Given the description of an element on the screen output the (x, y) to click on. 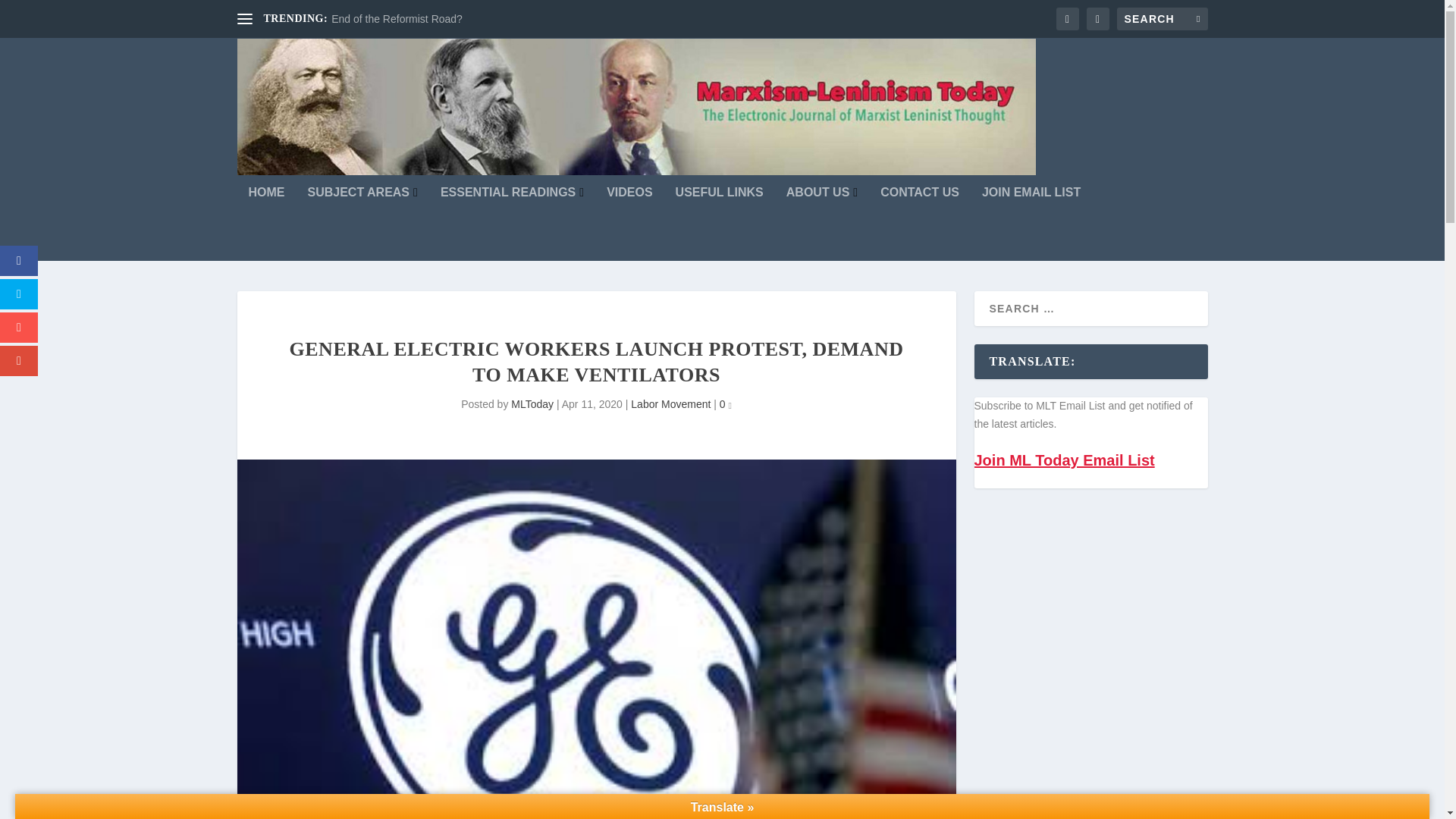
SUBJECT AREAS (362, 223)
Posts by MLToday (532, 404)
End of the Reformist Road? (397, 19)
USEFUL LINKS (718, 223)
ABOUT US (821, 223)
Search for: (1161, 18)
ESSENTIAL READINGS (512, 223)
